Given the description of an element on the screen output the (x, y) to click on. 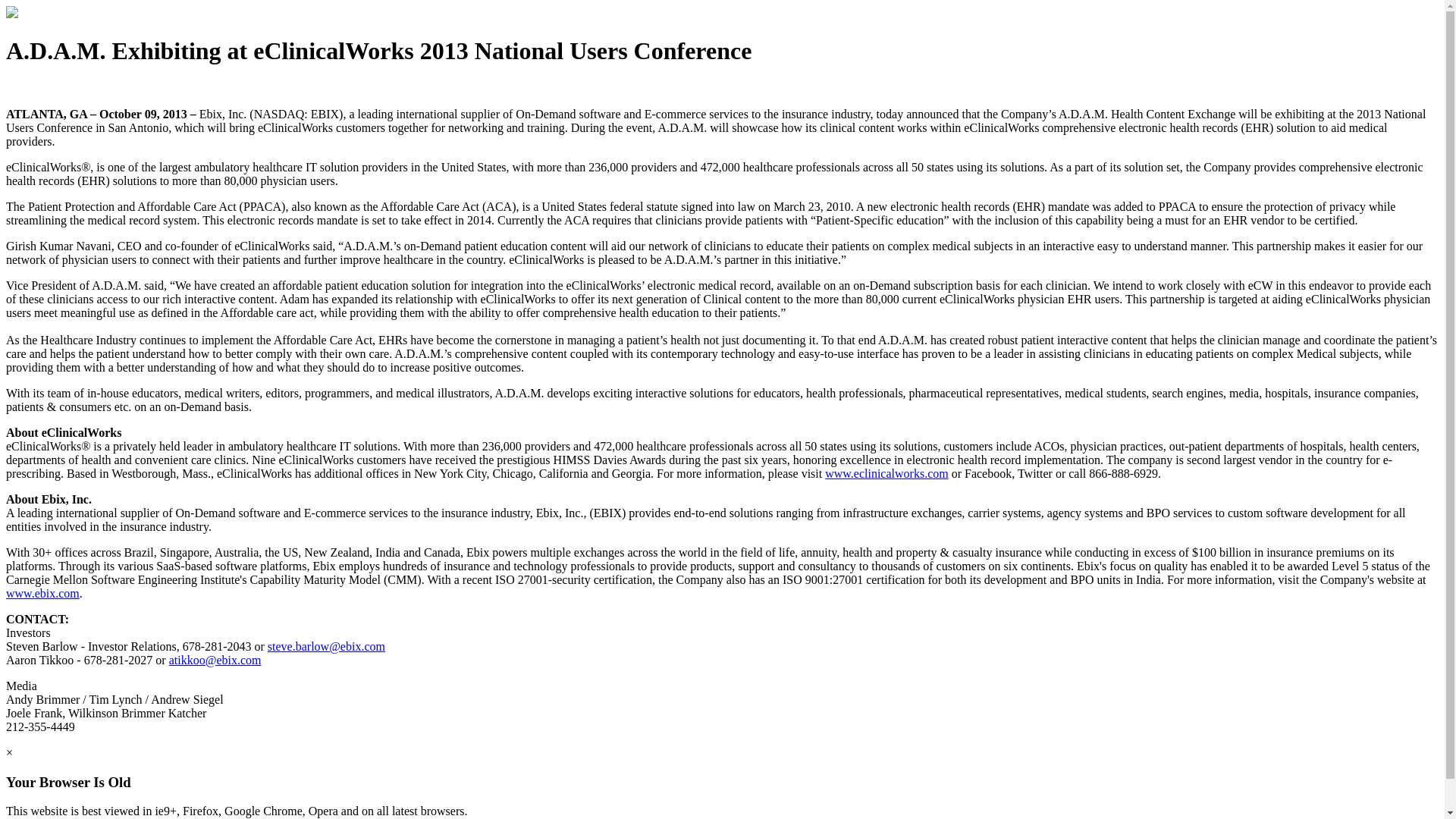
www.eclinicalworks.com (886, 472)
www.ebix.com (42, 593)
